Given the description of an element on the screen output the (x, y) to click on. 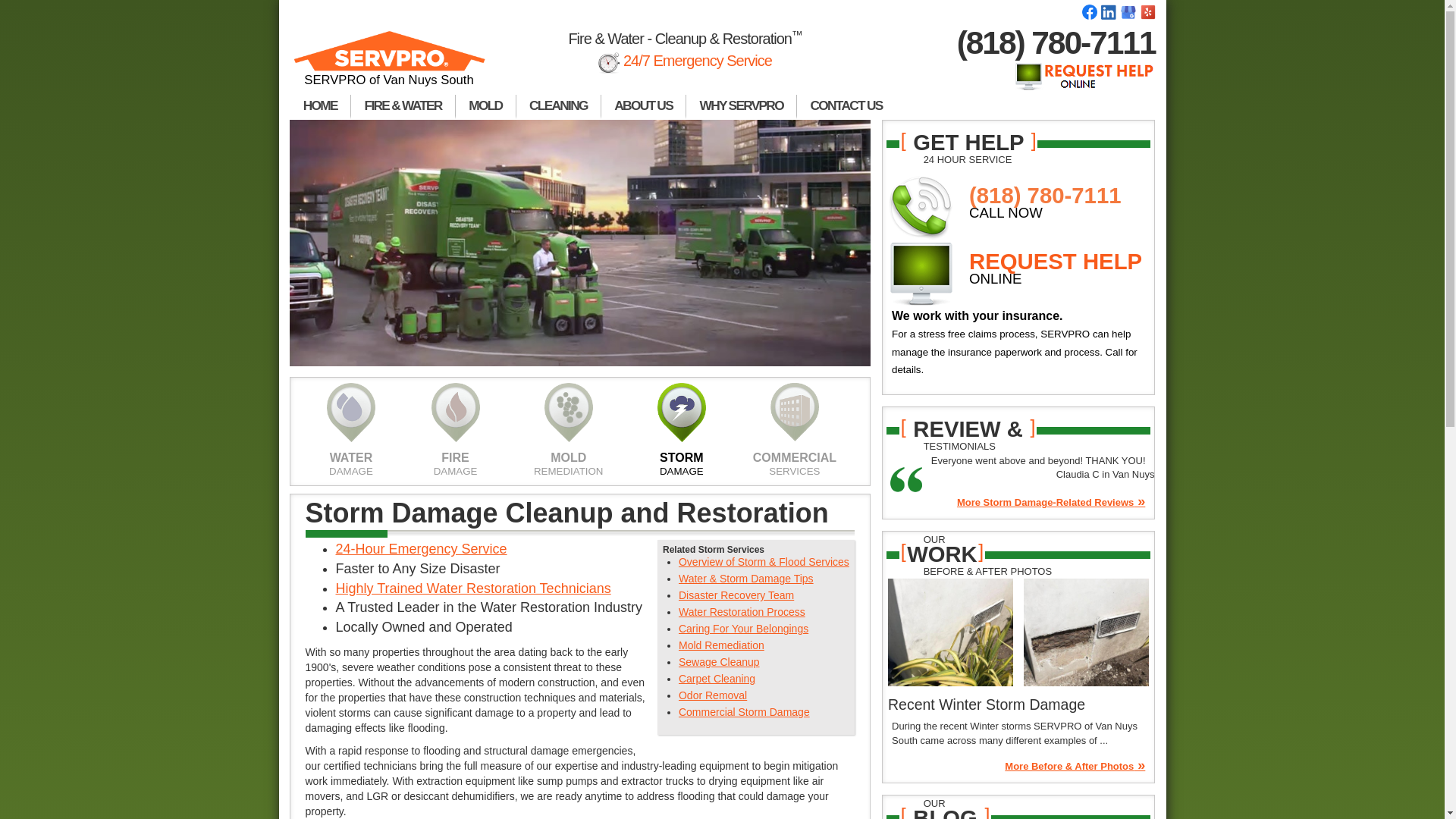
CLEANING (558, 106)
HOME (319, 106)
SERVPRO of Van Nuys South (389, 64)
ABOUT US (643, 106)
MOLD (485, 106)
